Given the description of an element on the screen output the (x, y) to click on. 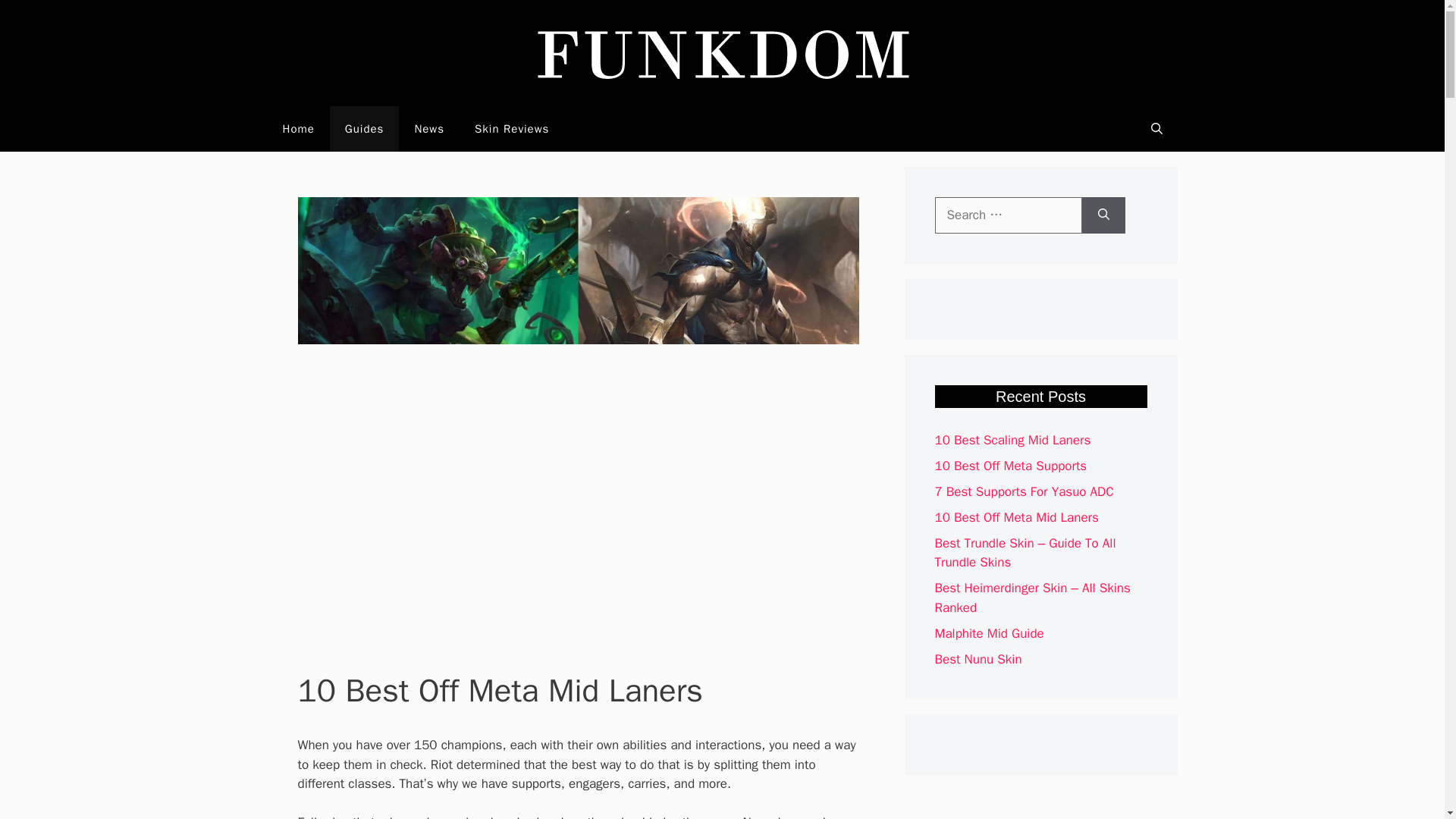
Skin Reviews (512, 128)
Home (297, 128)
7 Best Supports For Yasuo ADC (1023, 491)
10 Best Off Meta Mid Laners (1015, 517)
10 Best Off Meta Supports (1010, 465)
News (429, 128)
Guides (364, 128)
10 Best Scaling Mid Laners (1012, 439)
Funkdom (721, 52)
Funkdom (721, 51)
